Given the description of an element on the screen output the (x, y) to click on. 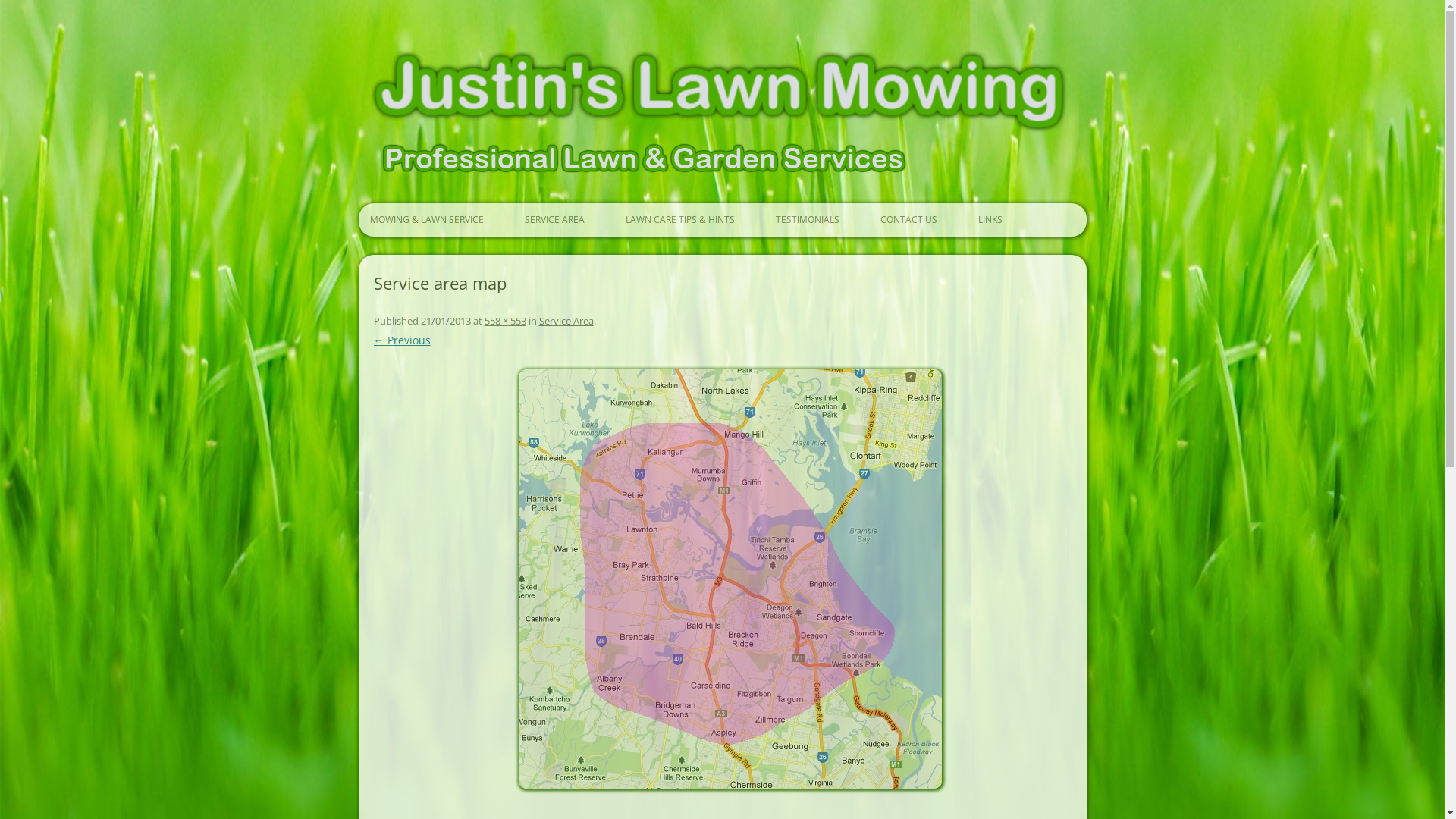
MOWING & LAWN SERVICE Element type: text (424, 219)
LINKS Element type: text (987, 219)
LAWN CARE TIPS & HINTS Element type: text (677, 219)
Justin's Lawn Mowing Element type: text (464, 72)
Skip to content Element type: text (721, 203)
Service Area Element type: text (565, 320)
Service area map Element type: hover (729, 578)
SERVICE AREA Element type: text (551, 219)
CONTACT US Element type: text (906, 219)
TESTIMONIALS Element type: text (805, 219)
